Given the description of an element on the screen output the (x, y) to click on. 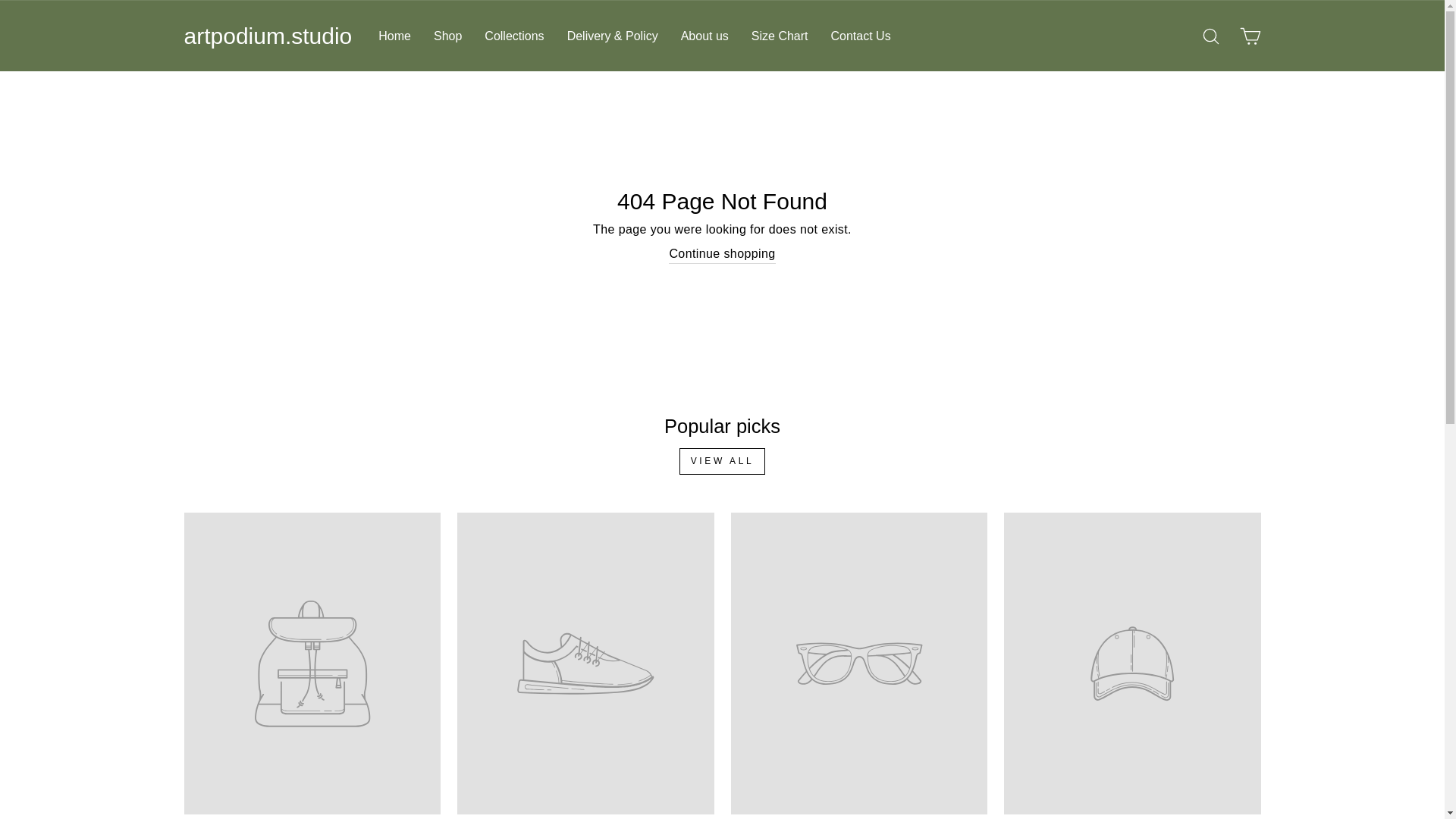
Collections (513, 35)
artpodium.studio (267, 35)
Home (394, 35)
Shop (447, 35)
